Given the description of an element on the screen output the (x, y) to click on. 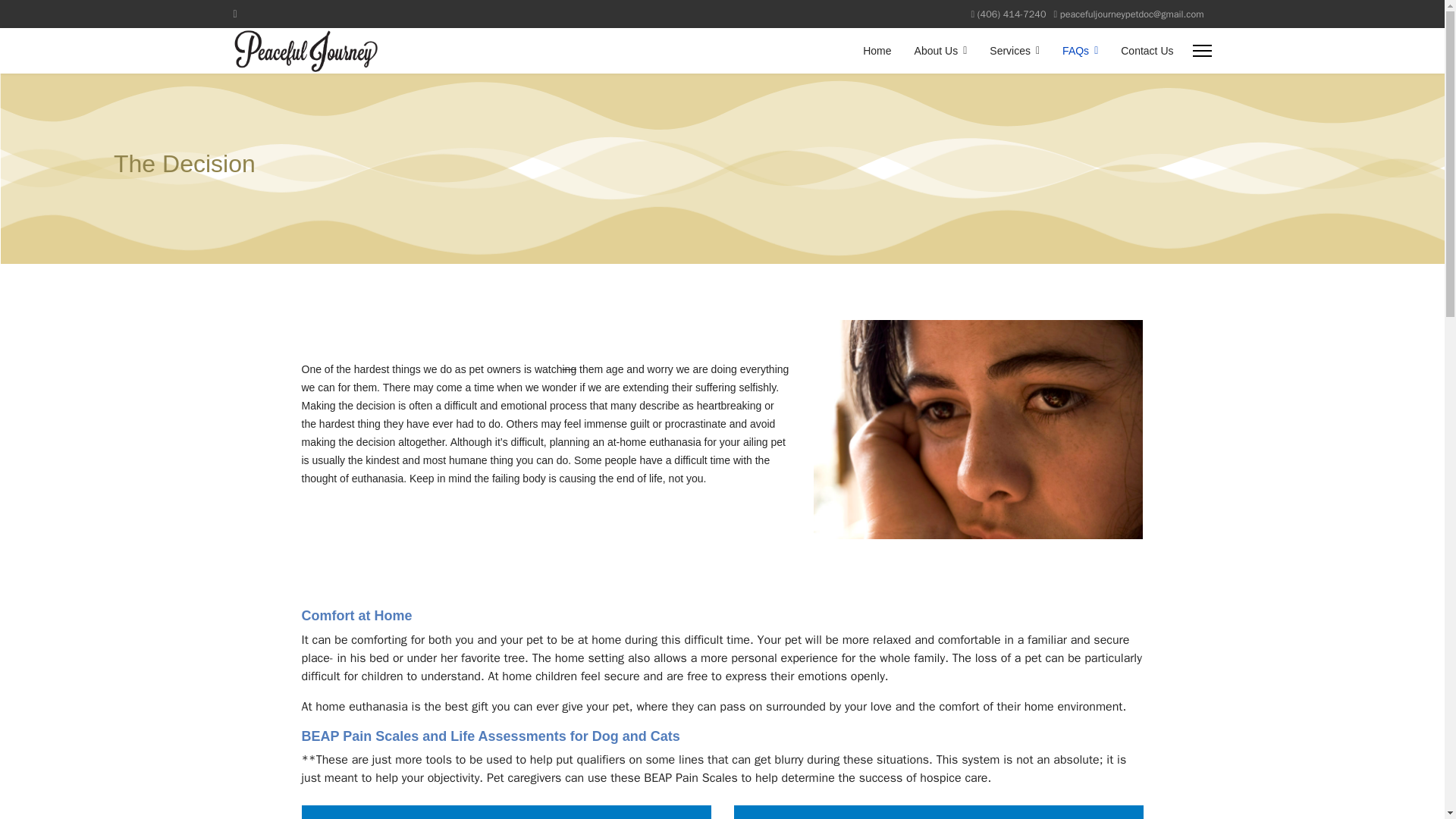
Services (1014, 50)
FAQs (1080, 50)
Contact Us (1141, 50)
Home (876, 50)
About Us (940, 50)
